Given the description of an element on the screen output the (x, y) to click on. 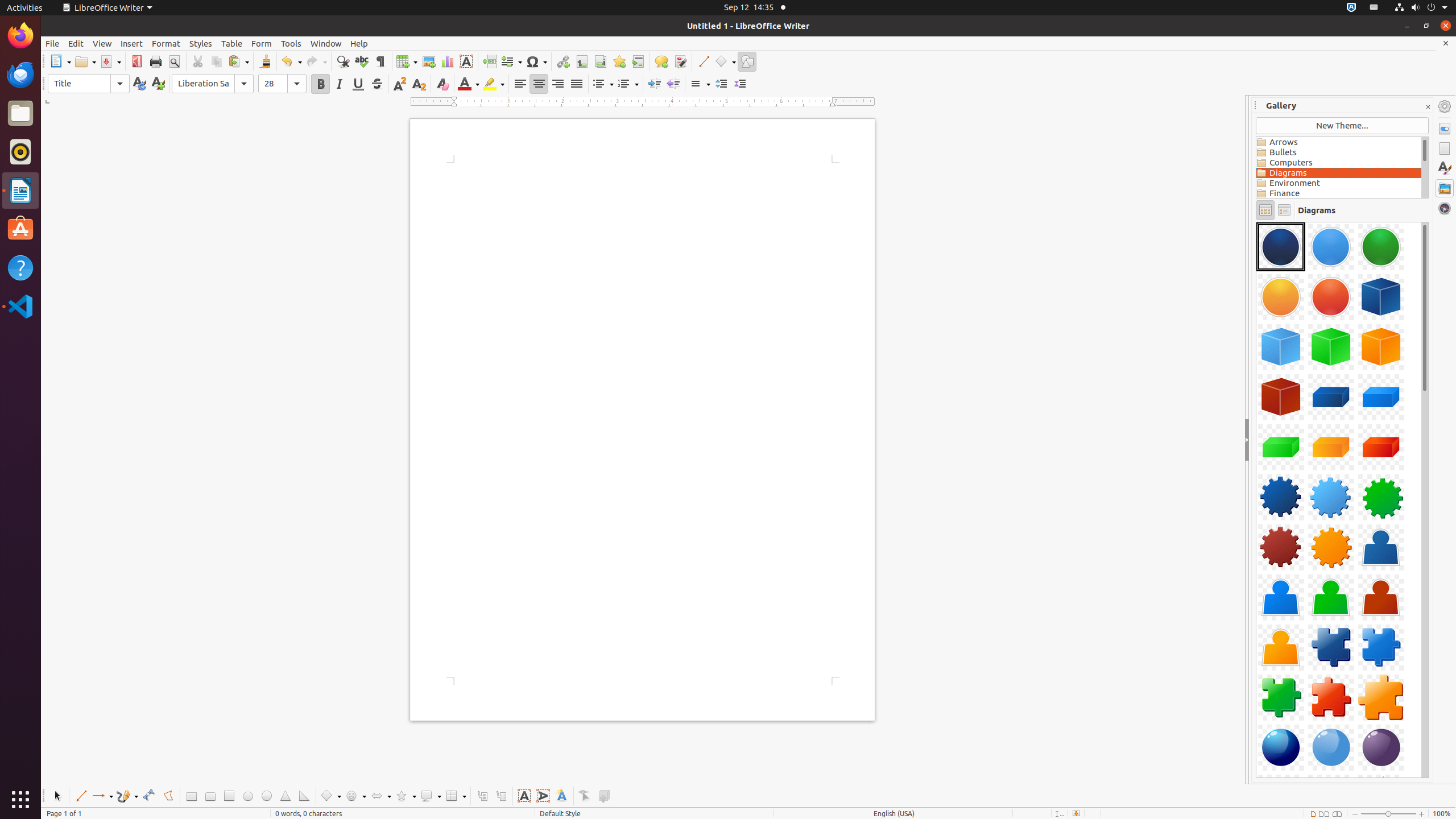
Print Element type: push-button (155, 61)
Component-Circle02-Transparent-Bule Element type: list-item (1330, 246)
Draw Functions Element type: toggle-button (746, 61)
Computers Element type: list-item (1338, 162)
Component-Cuboid05-Red Element type: list-item (1380, 446)
